Given the description of an element on the screen output the (x, y) to click on. 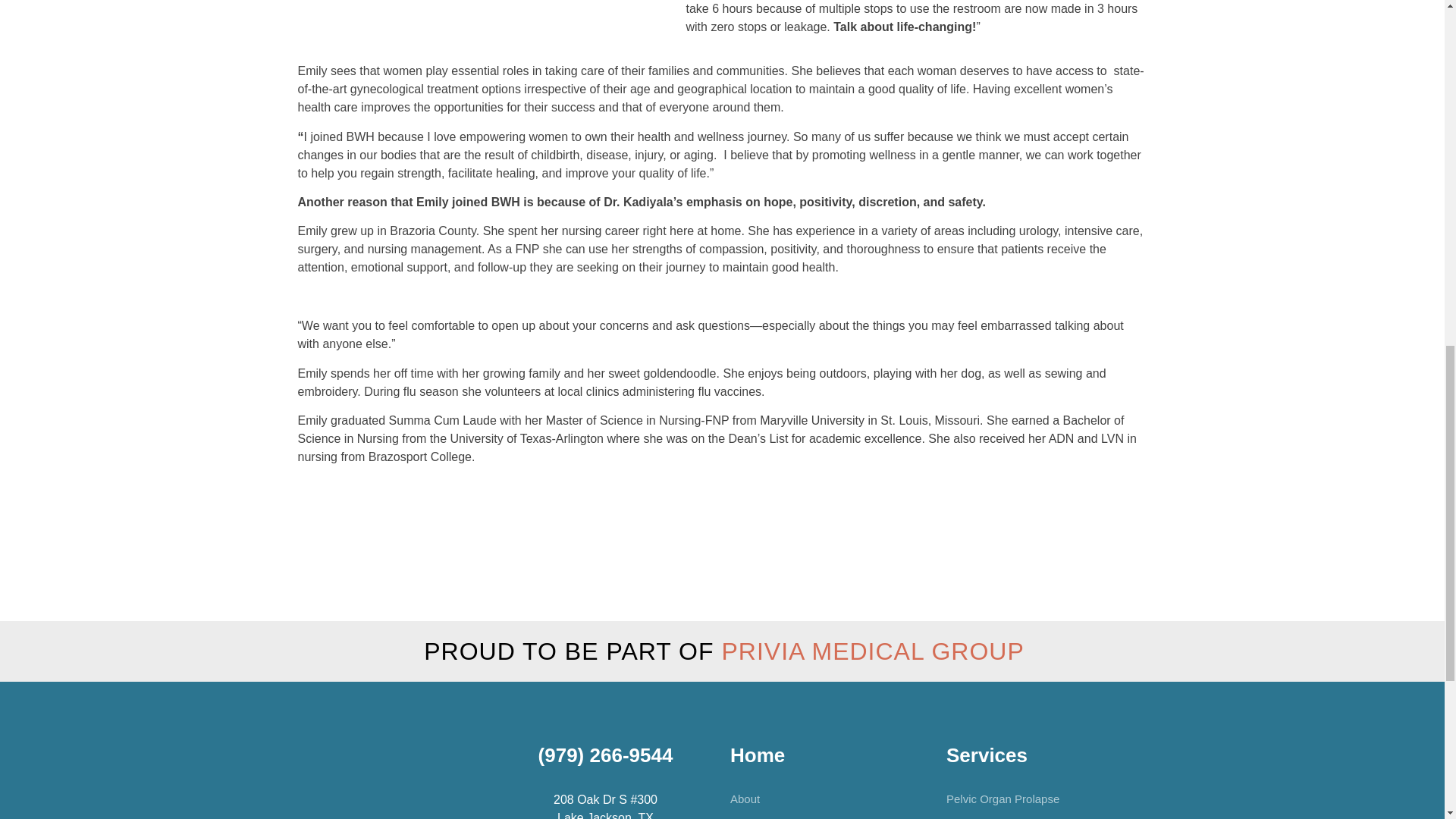
Emily Mcintire 2 (468, 3)
PRIVIA MEDICAL GROUP (871, 651)
Emily Mcintire 4 (300, 9)
